Given the description of an element on the screen output the (x, y) to click on. 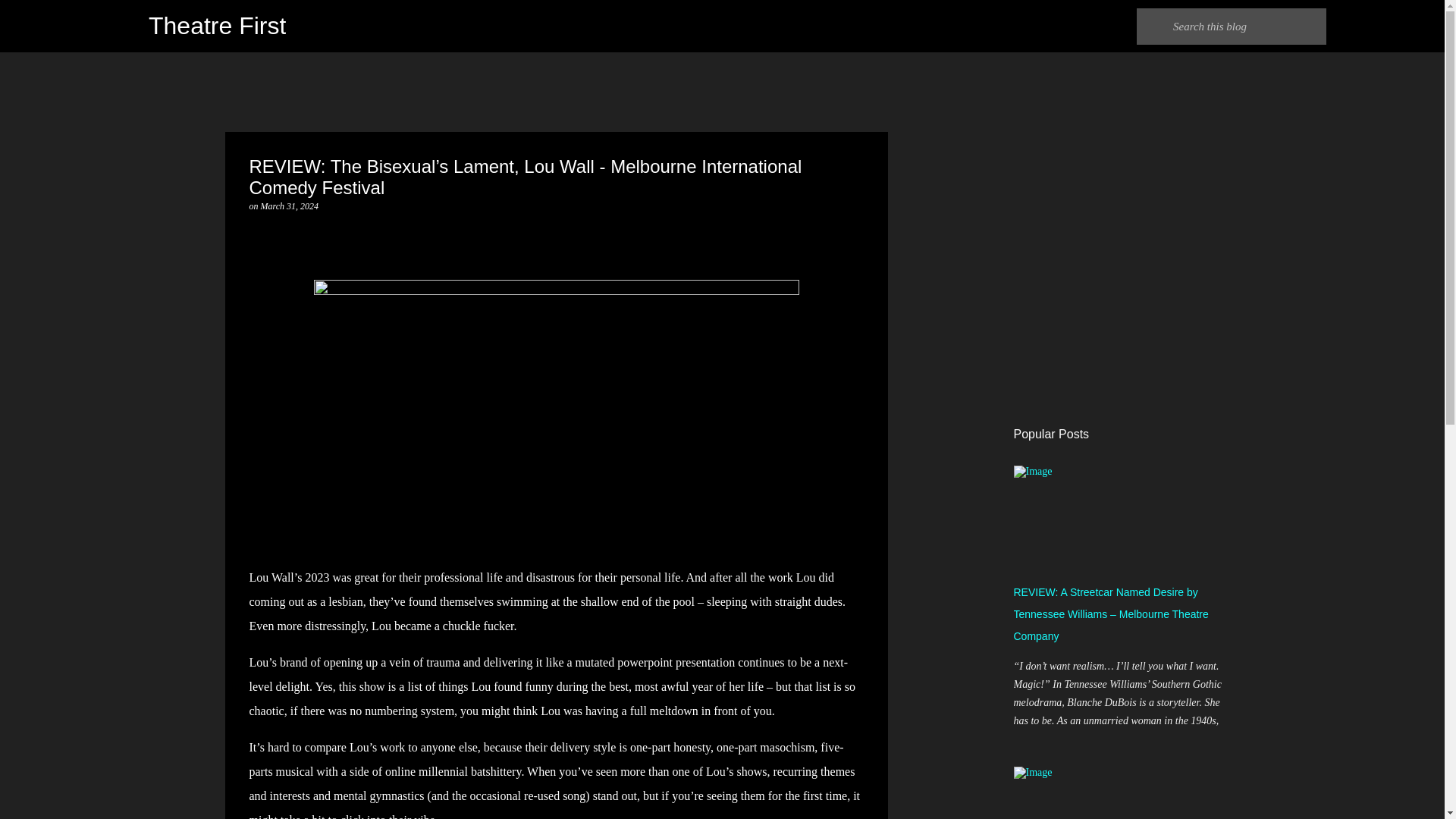
March 31, 2024 (289, 205)
permanent link (289, 205)
Theatre First (216, 25)
